Given the description of an element on the screen output the (x, y) to click on. 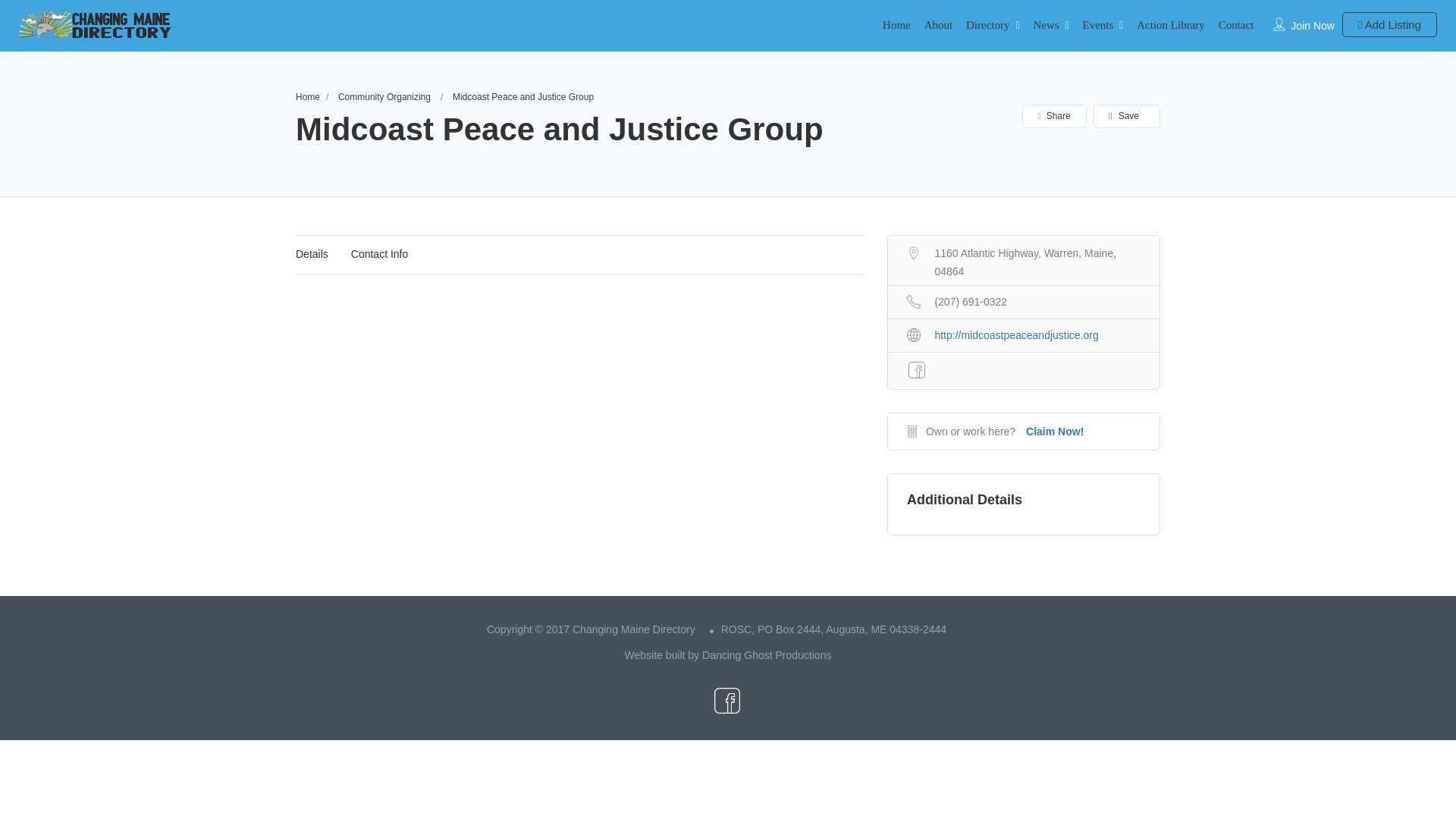
Directory (987, 24)
Home (896, 24)
Add Listing (1389, 24)
Join Now (1312, 25)
Events (1098, 24)
Sign in (727, 471)
Action Library (1171, 24)
News (1045, 24)
About (938, 24)
Contact (1235, 24)
